Given the description of an element on the screen output the (x, y) to click on. 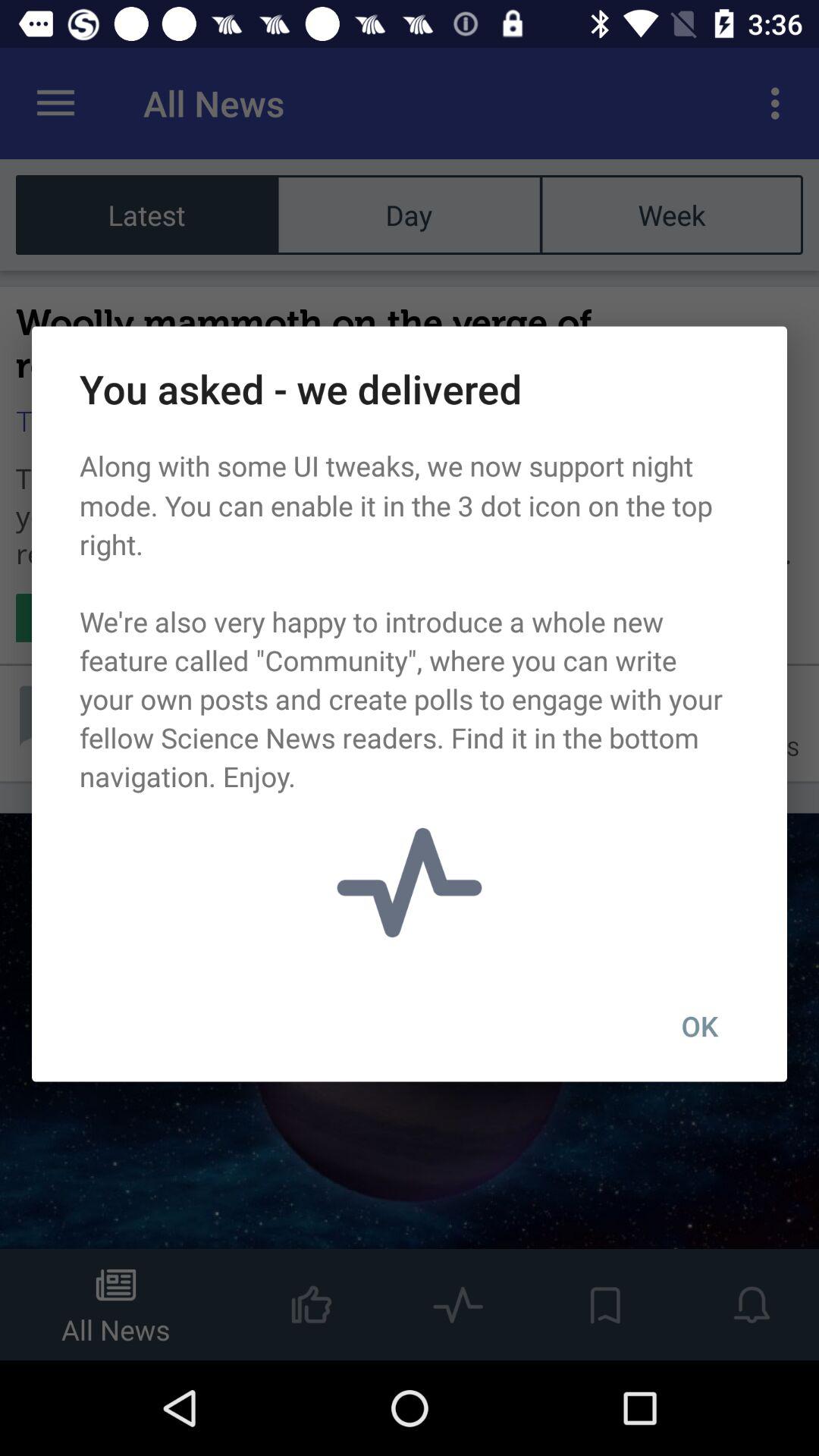
jump to ok item (699, 1025)
